Given the description of an element on the screen output the (x, y) to click on. 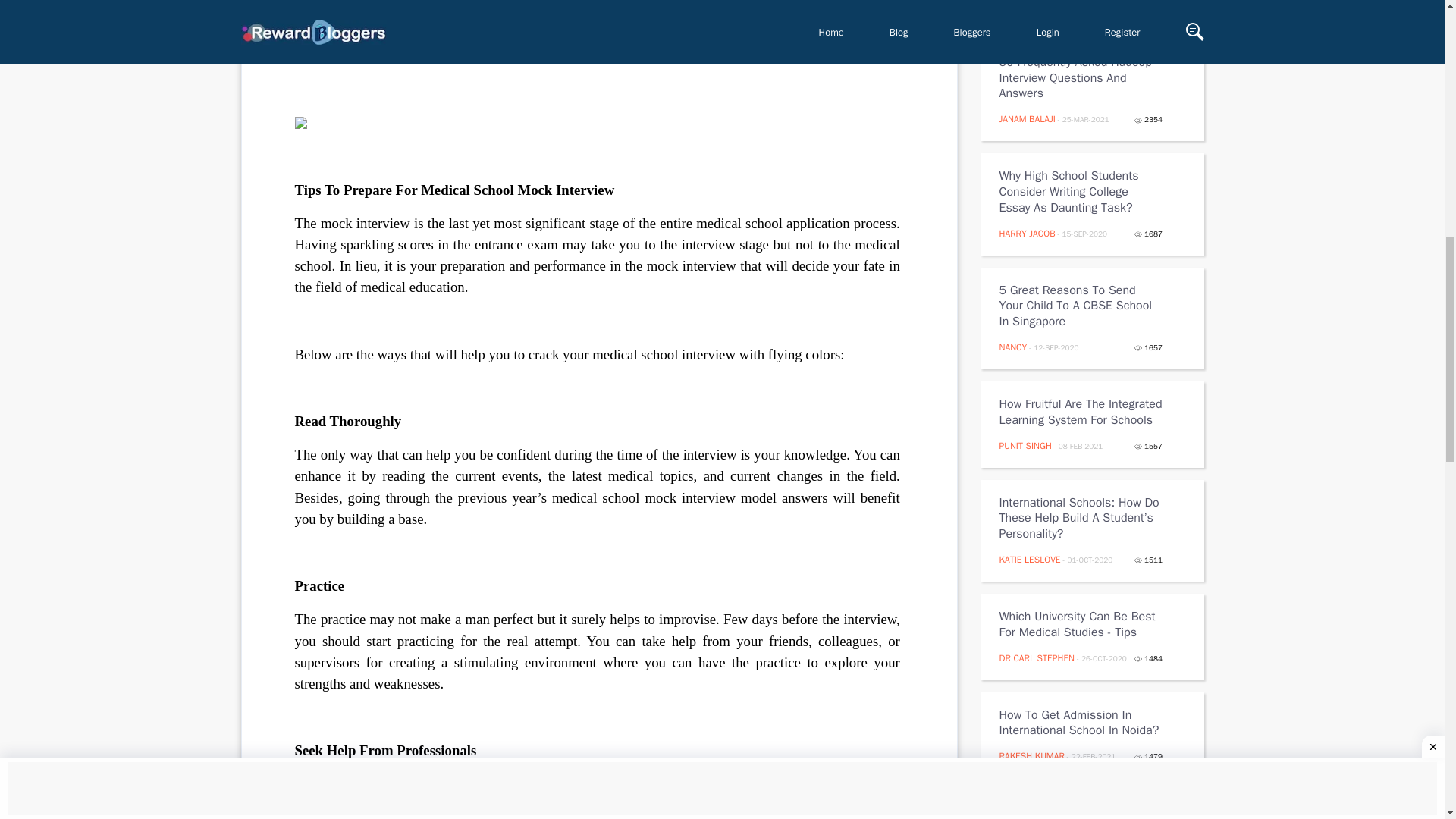
How To Choose The Right School? (1080, 812)
HARRY JACOB (1026, 233)
JANAM BALAJI (1026, 119)
PUNIT SINGH (1024, 445)
EDWIN (1013, 5)
DR CARL STEPHEN (1036, 657)
Which University Can Be Best For Medical Studies - Tips (1080, 624)
NANCY (1012, 346)
How Fruitful Are The Integrated Learning System For Schools (1080, 412)
